Given the description of an element on the screen output the (x, y) to click on. 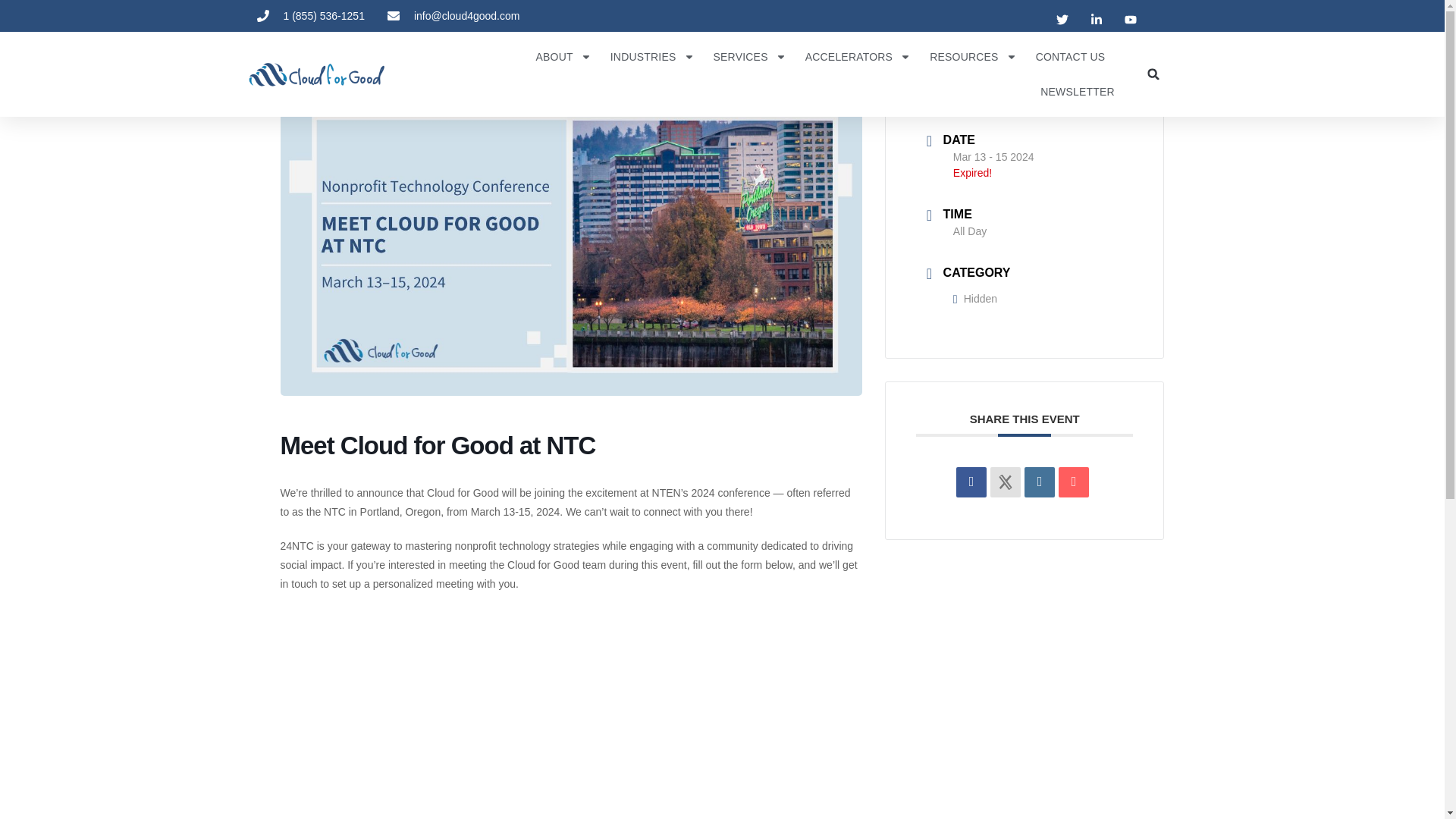
ABOUT (563, 56)
Linkedin (1039, 481)
ACCELERATORS (858, 56)
INDUSTRIES (652, 56)
SERVICES (749, 56)
X Social Network (1005, 481)
Email (1073, 481)
Share on Facebook (971, 481)
